Given the description of an element on the screen output the (x, y) to click on. 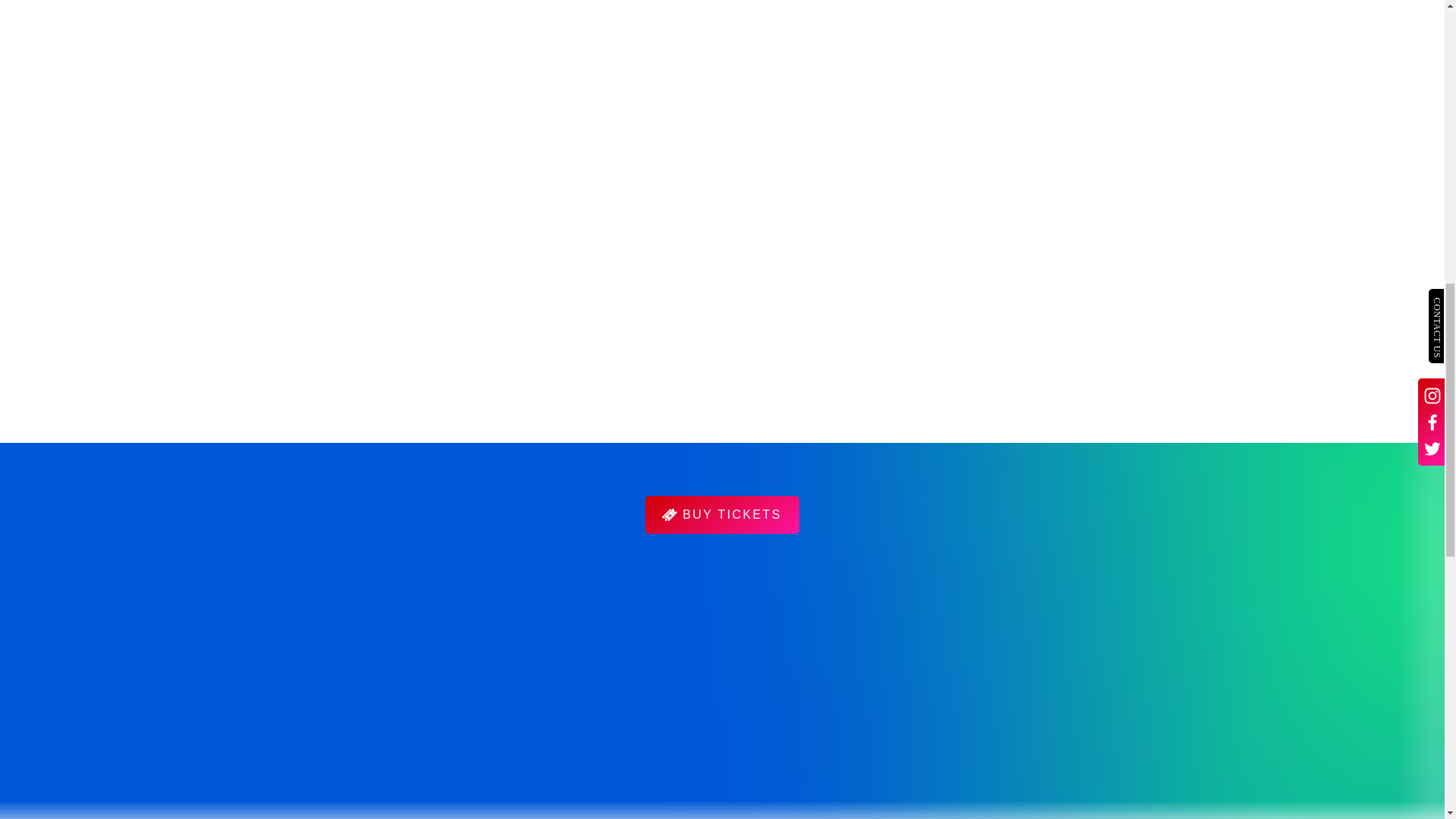
BUY TICKETS (721, 514)
